Given the description of an element on the screen output the (x, y) to click on. 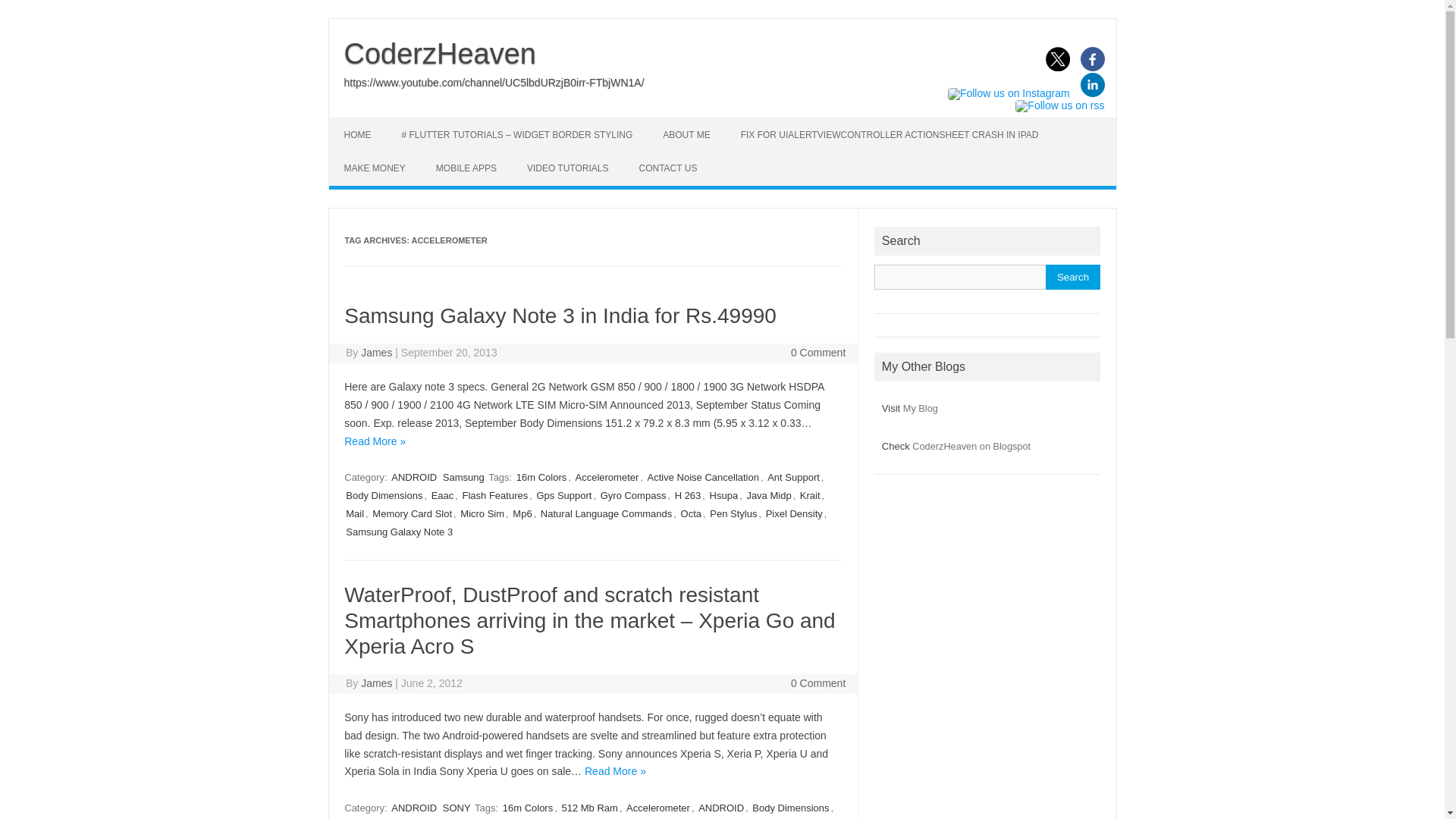
FIX FOR UIALERTVIEWCONTROLLER ACTIONSHEET CRASH IN IPAD (889, 134)
Krait (809, 495)
Active Noise Cancellation (703, 477)
Samsung (463, 477)
H 263 (687, 495)
Gyro Compass (633, 495)
Permalink to Samsung Galaxy Note 3 in India for Rs.49990 (559, 315)
Memory Card Slot (411, 513)
Eaac (442, 495)
Java Midp (768, 495)
